Given the description of an element on the screen output the (x, y) to click on. 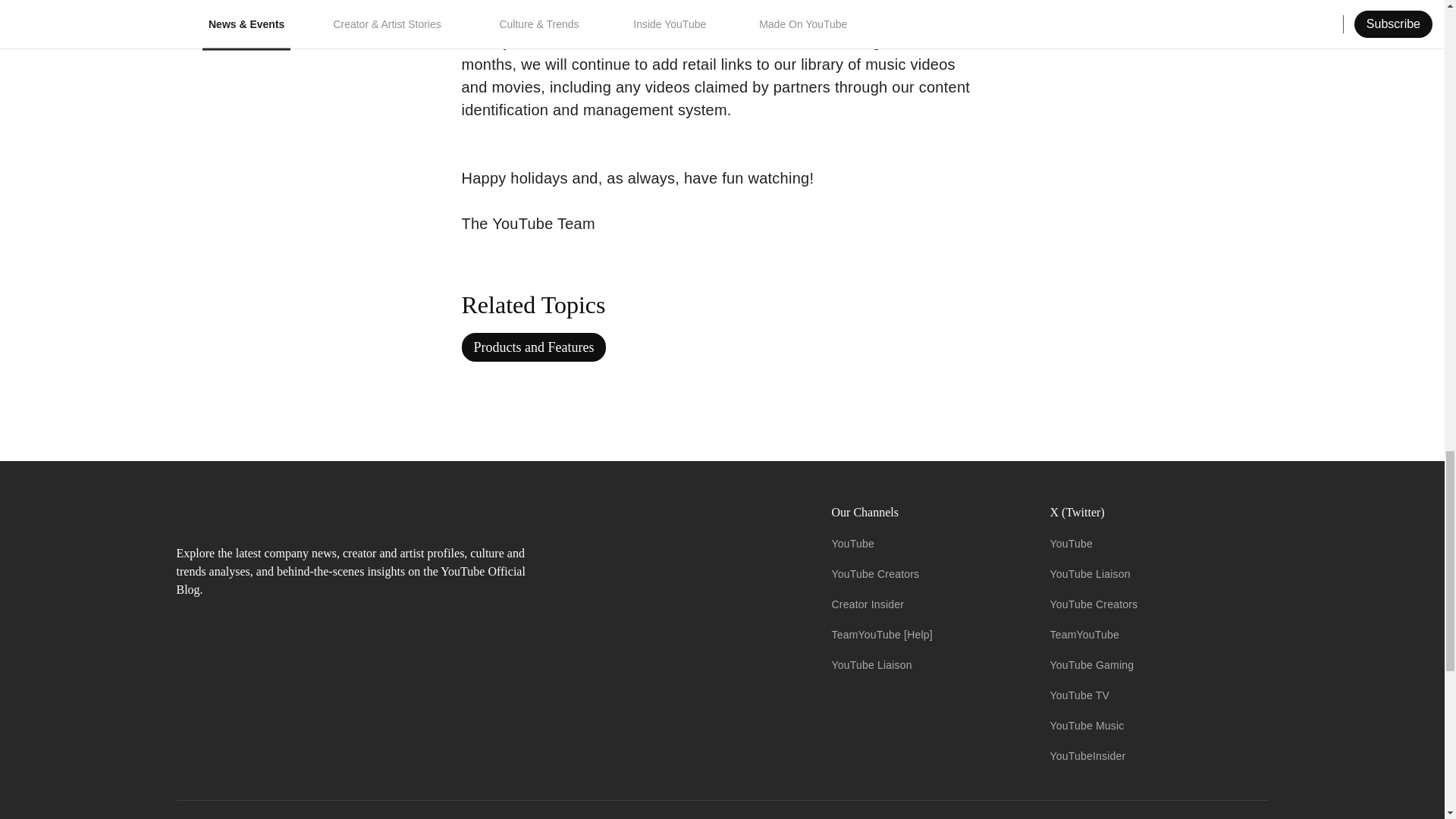
YouTube (852, 542)
Our Channels (928, 512)
Products and Features (533, 346)
Products and Features (533, 346)
